Given the description of an element on the screen output the (x, y) to click on. 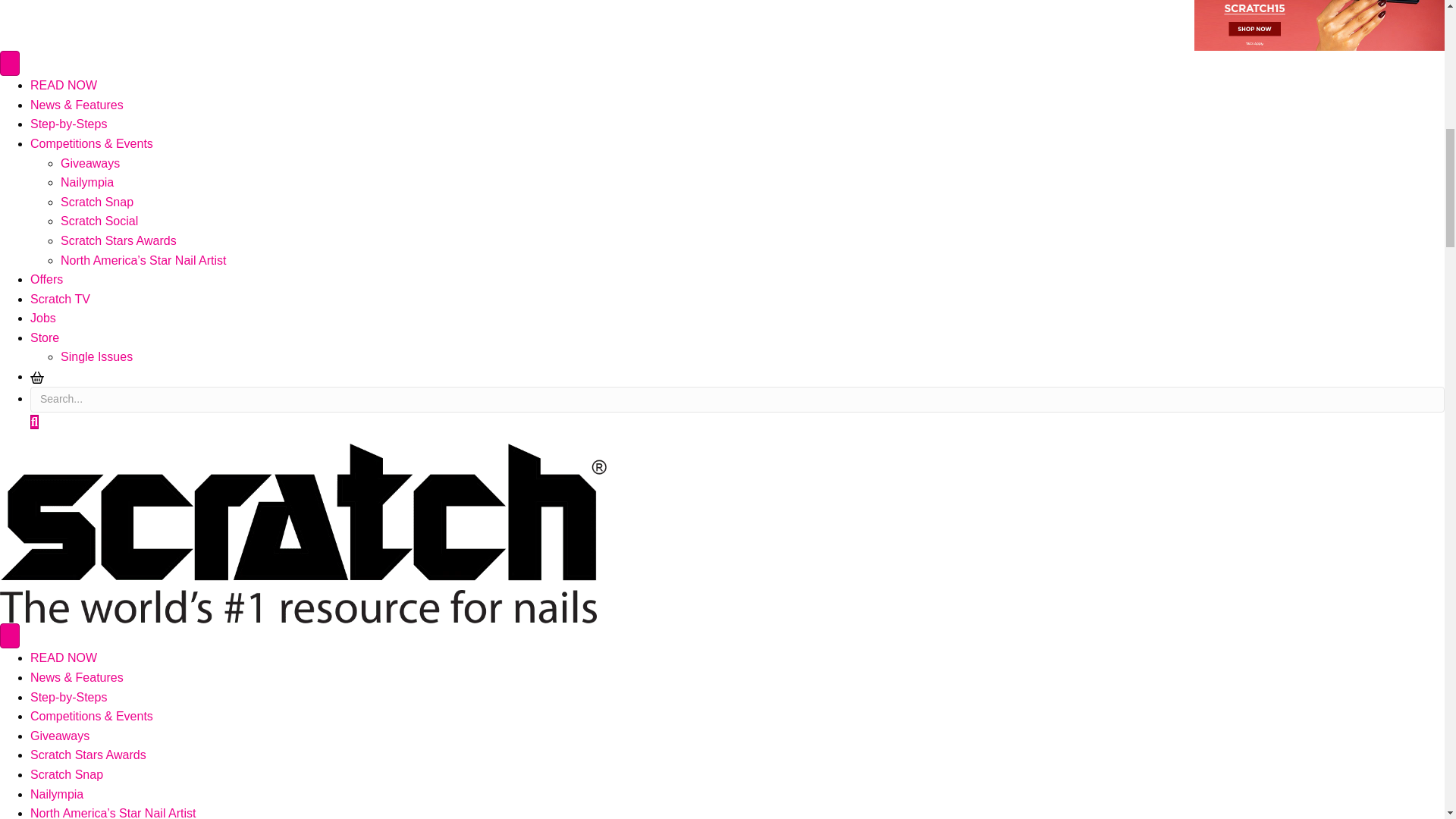
Nailympia (87, 182)
Scratch TV (60, 298)
Giveaways (59, 735)
Step-by-Steps (68, 123)
Scratch Stars Awards (88, 754)
READ NOW (63, 657)
Scratch Stars Awards (118, 240)
Scratch Social (99, 220)
Store (44, 337)
Scratch Snap (97, 201)
